Given the description of an element on the screen output the (x, y) to click on. 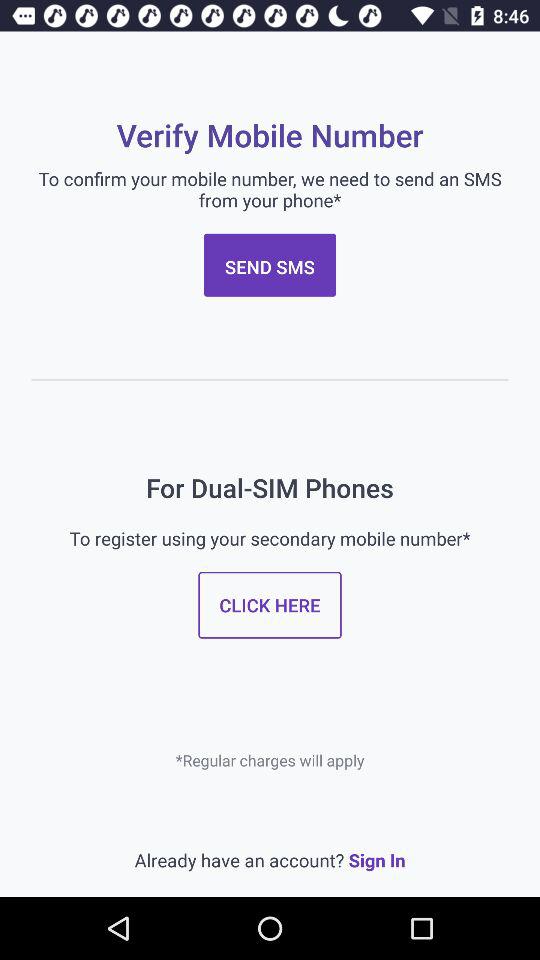
launch item below to register using (269, 604)
